Given the description of an element on the screen output the (x, y) to click on. 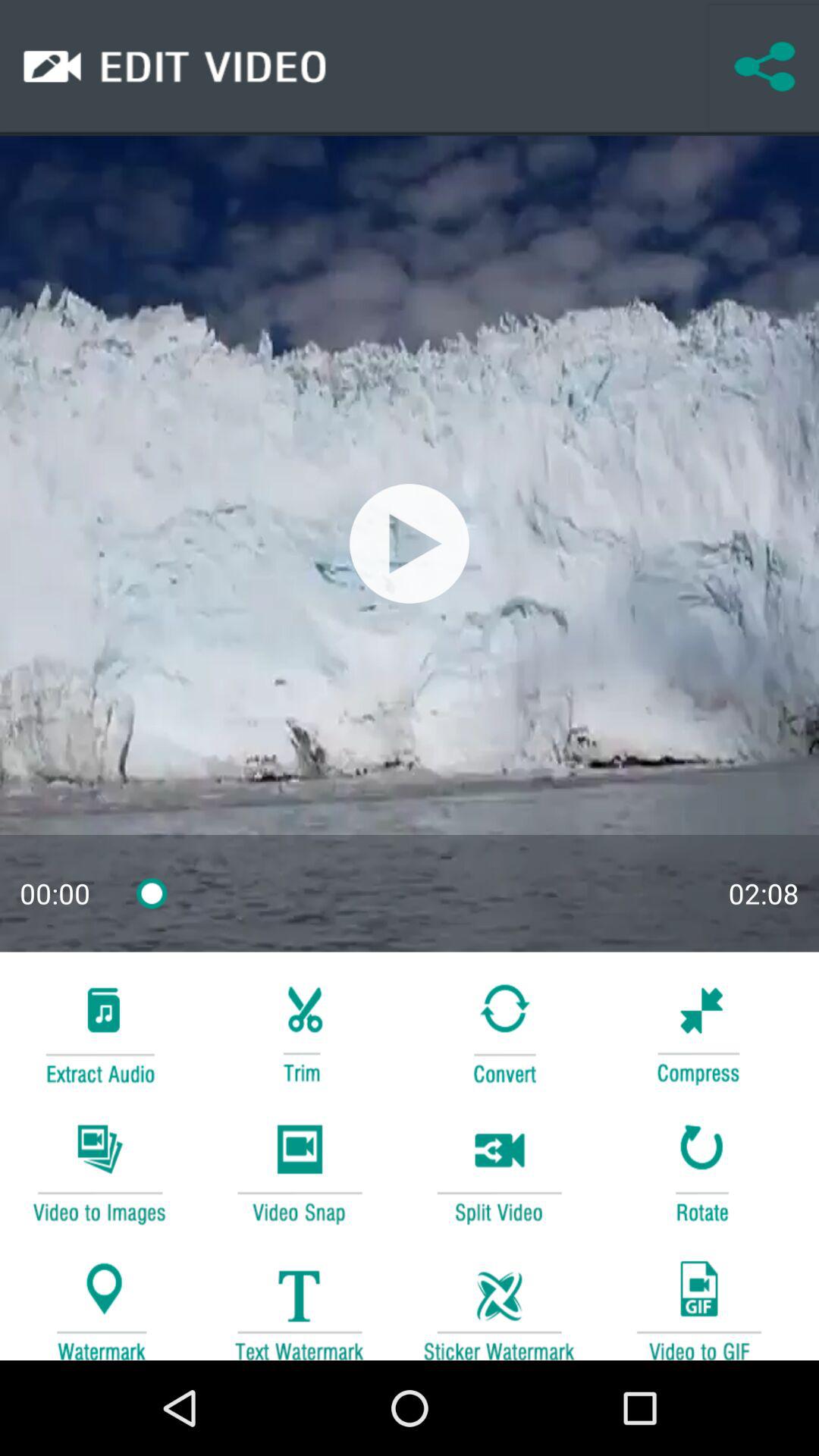
text selection (299, 1303)
